Given the description of an element on the screen output the (x, y) to click on. 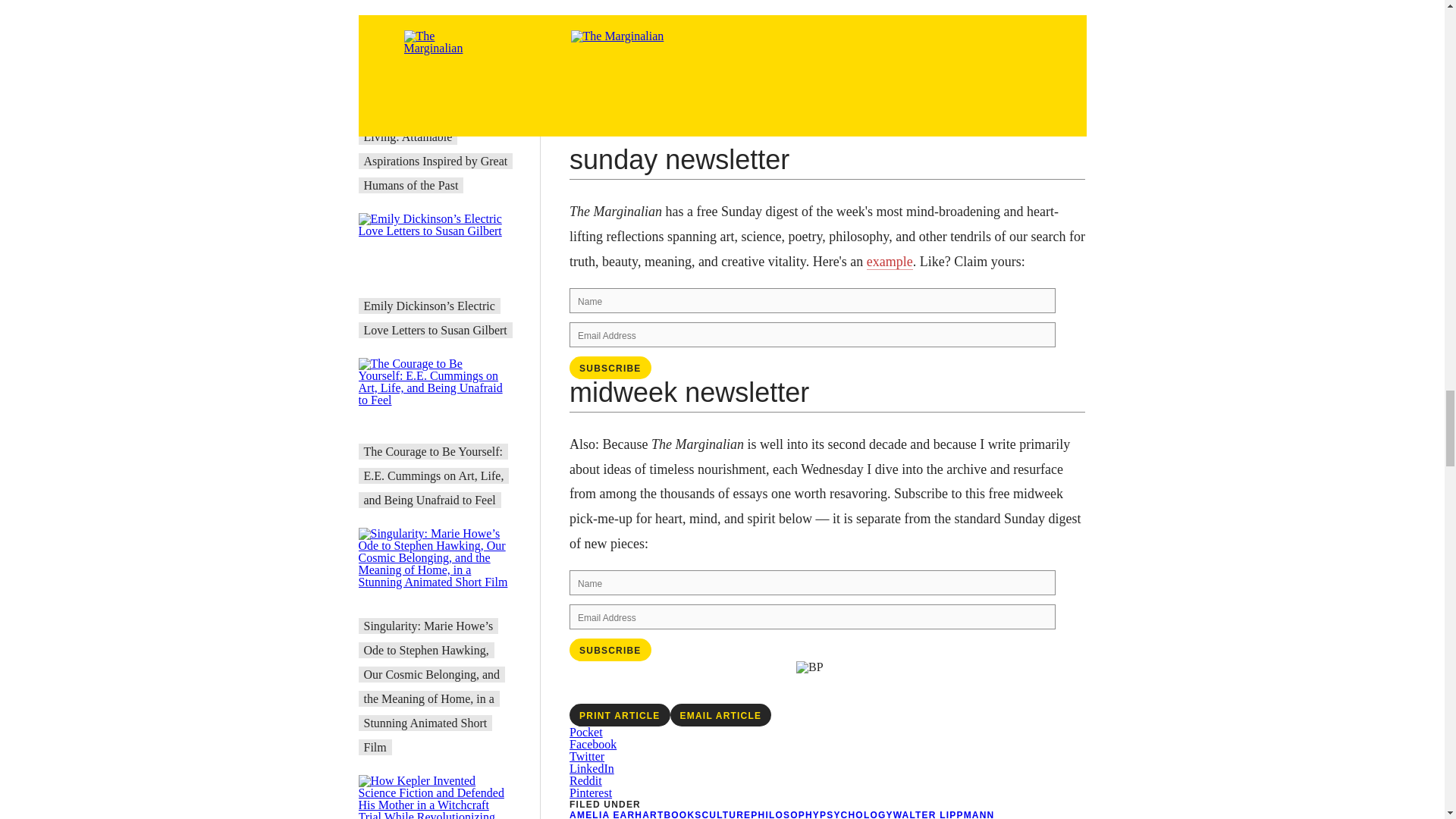
Subscribe (609, 649)
Click to share on Pinterest (590, 792)
Subscribe (609, 367)
Click to share on Pocket (585, 731)
Click to share on Facebook (592, 744)
Click to share on LinkedIn (591, 768)
Click to share on Twitter (586, 756)
Click to share on Reddit (585, 780)
